Given the description of an element on the screen output the (x, y) to click on. 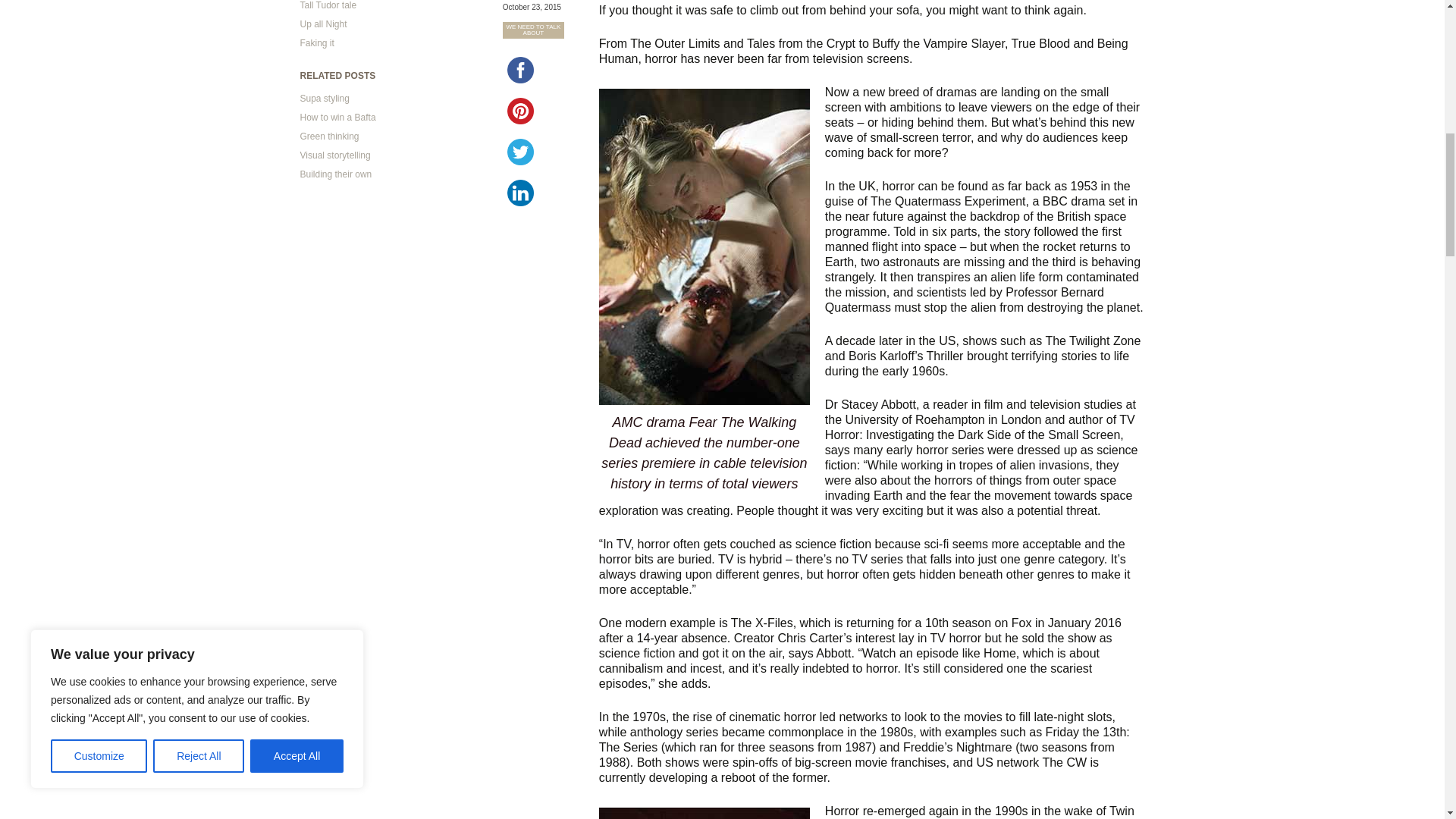
Visual storytelling (335, 154)
How to win a Bafta (337, 117)
Green thinking (329, 136)
Supa styling (324, 98)
Building their own (335, 173)
